Given the description of an element on the screen output the (x, y) to click on. 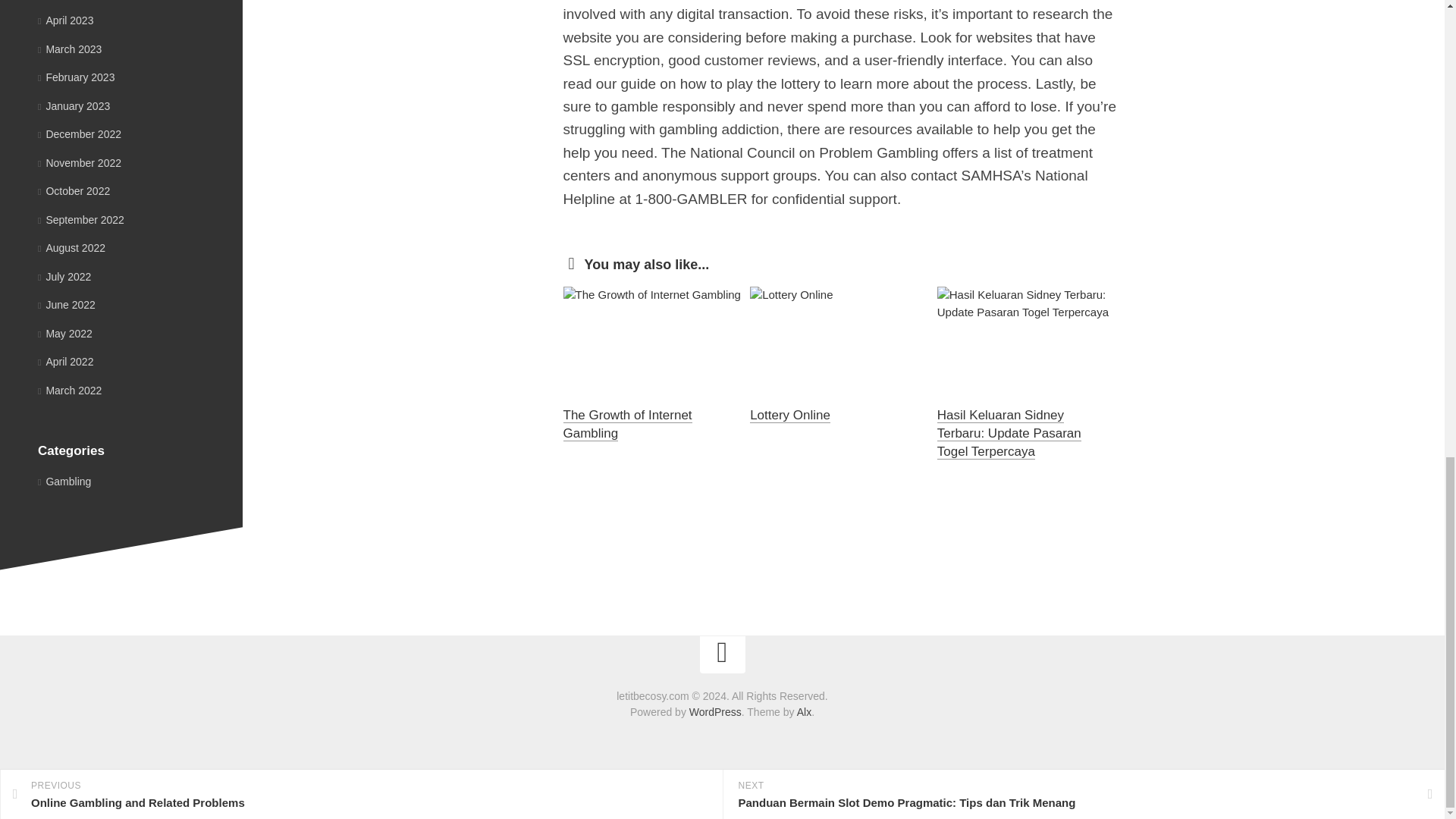
Lottery Online (789, 414)
April 2023 (65, 20)
March 2023 (69, 48)
The Growth of Internet Gambling (626, 423)
